Given the description of an element on the screen output the (x, y) to click on. 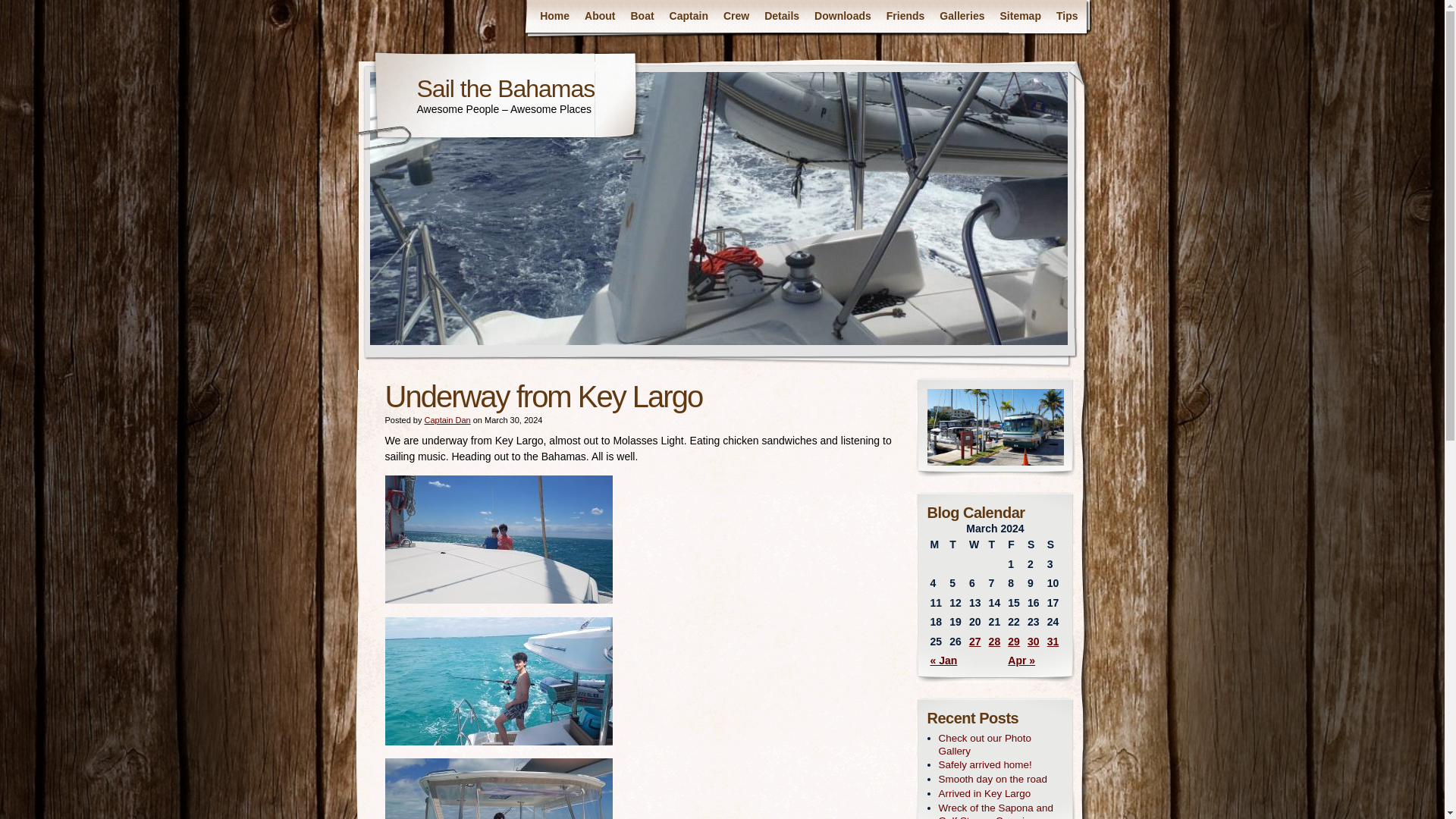
Saturday (1034, 545)
Captain (689, 16)
Monday (936, 545)
Sunday (1053, 545)
Crew (736, 16)
Boat (642, 16)
Galleries (961, 16)
Details (781, 16)
Downloads (842, 16)
Sail the Bahamas (505, 87)
About (599, 16)
Home (554, 16)
Friday (1014, 545)
Posts by Captain Dan (446, 420)
Sitemap (1019, 16)
